Given the description of an element on the screen output the (x, y) to click on. 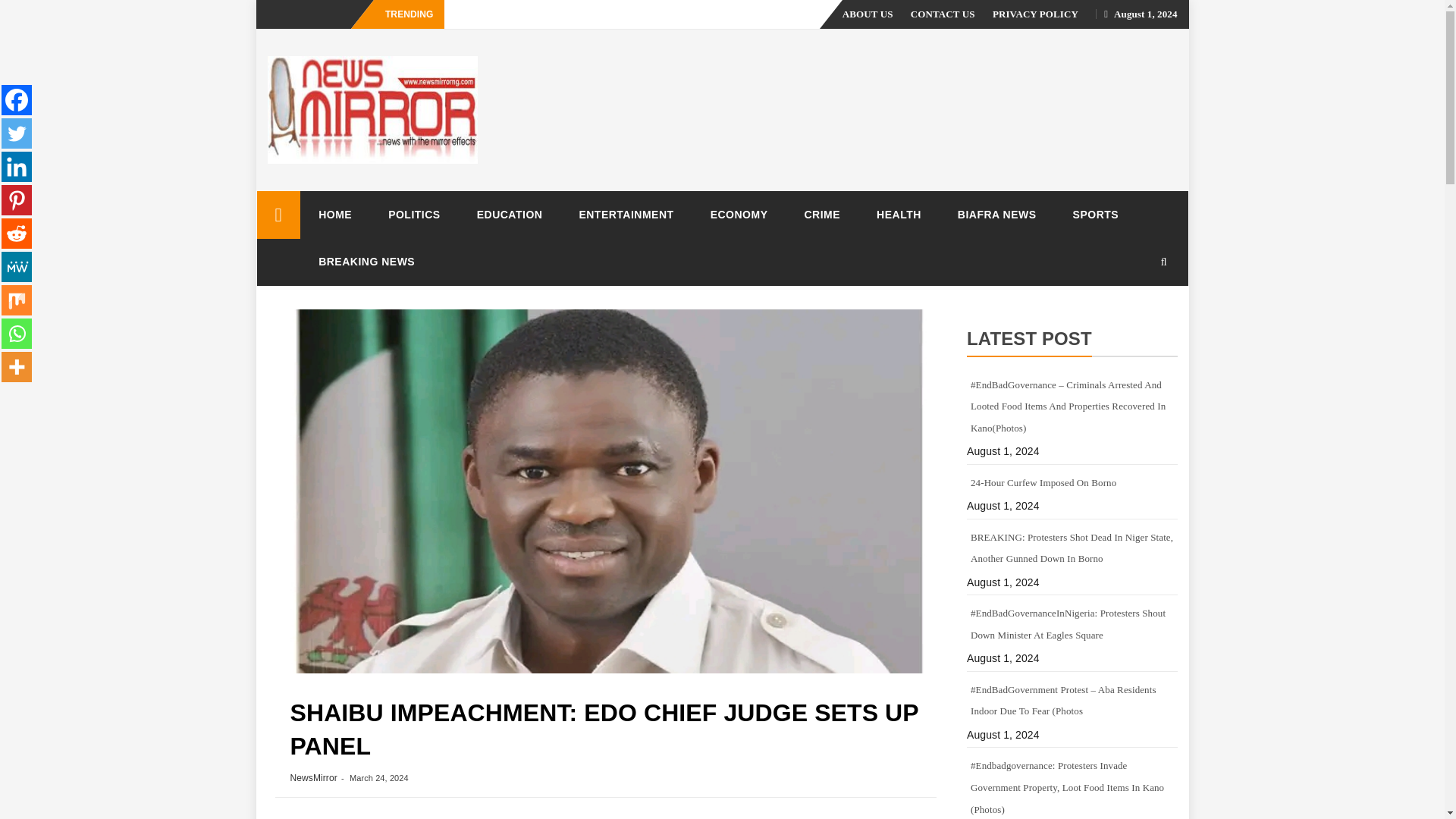
ABOUT US (868, 13)
CRIME (822, 214)
EDUCATION (509, 214)
PRIVACY POLICY (1035, 13)
HOME (334, 214)
SPORTS (1095, 214)
NewsMirror (312, 777)
BREAKING NEWS (365, 261)
HEALTH (899, 214)
BIAFRA NEWS (996, 214)
News Mirror (277, 214)
POLITICS (413, 214)
ENTERTAINMENT (625, 214)
CONTACT US (943, 13)
